Given the description of an element on the screen output the (x, y) to click on. 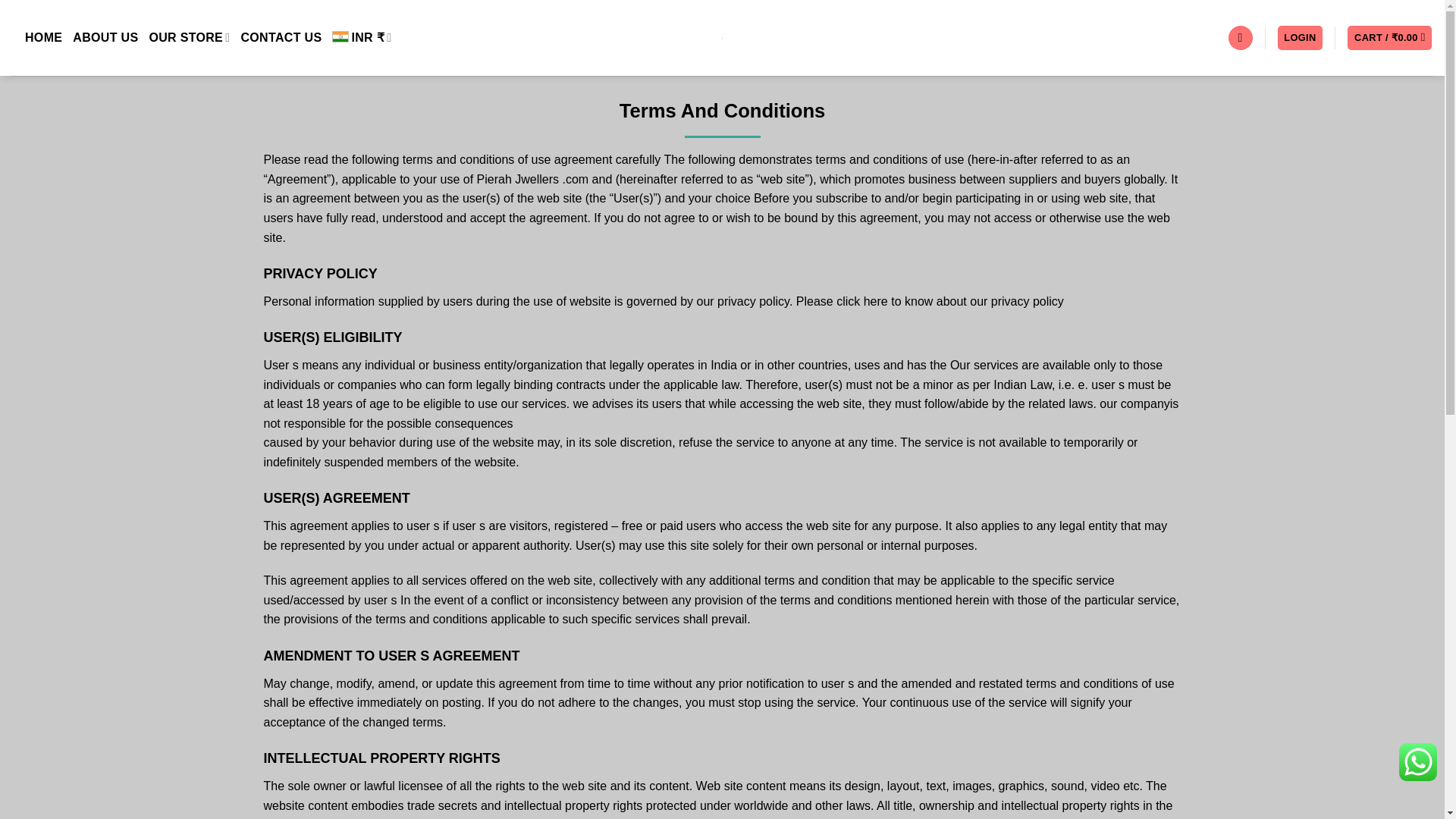
LOGIN (1300, 37)
OUR STORE (189, 37)
CONTACT US (280, 37)
ABOUT US (105, 37)
HOME (43, 37)
Pierah - Online Jewellery Store (722, 37)
Cart (1389, 37)
